Given the description of an element on the screen output the (x, y) to click on. 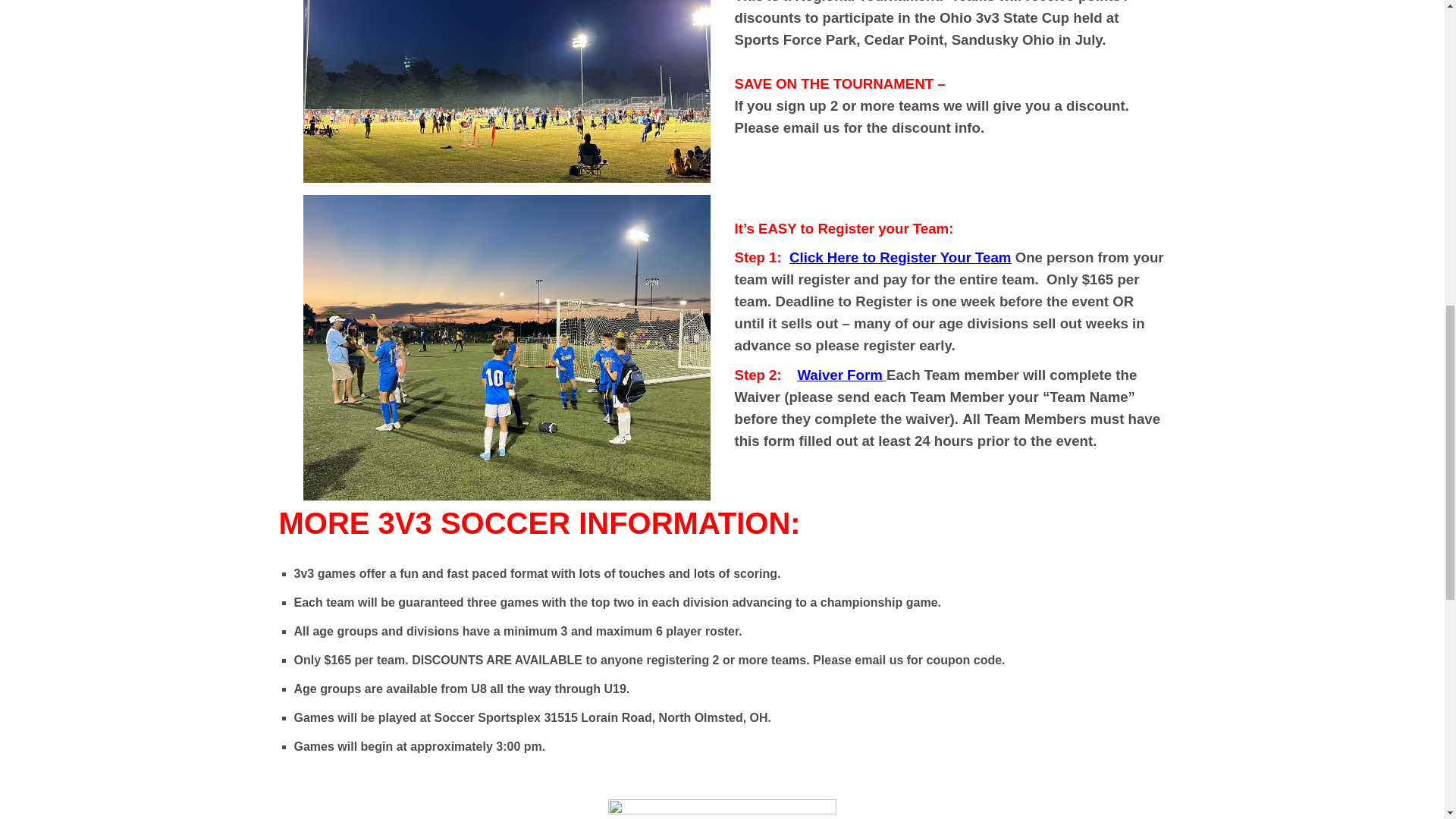
Click Here to Register Your Team (899, 257)
Waiver Form (839, 374)
